Given the description of an element on the screen output the (x, y) to click on. 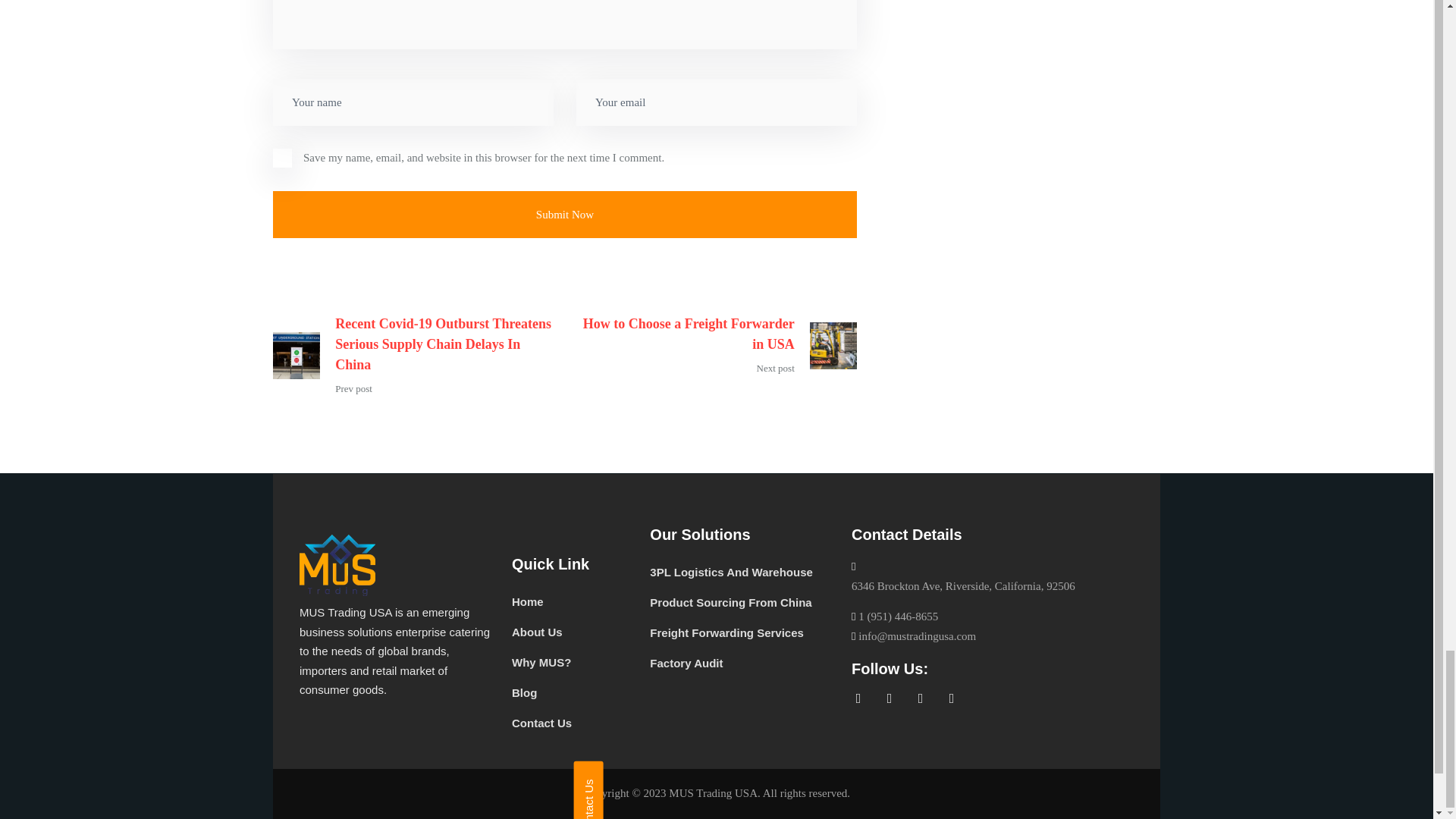
Submit Now (565, 214)
